Given the description of an element on the screen output the (x, y) to click on. 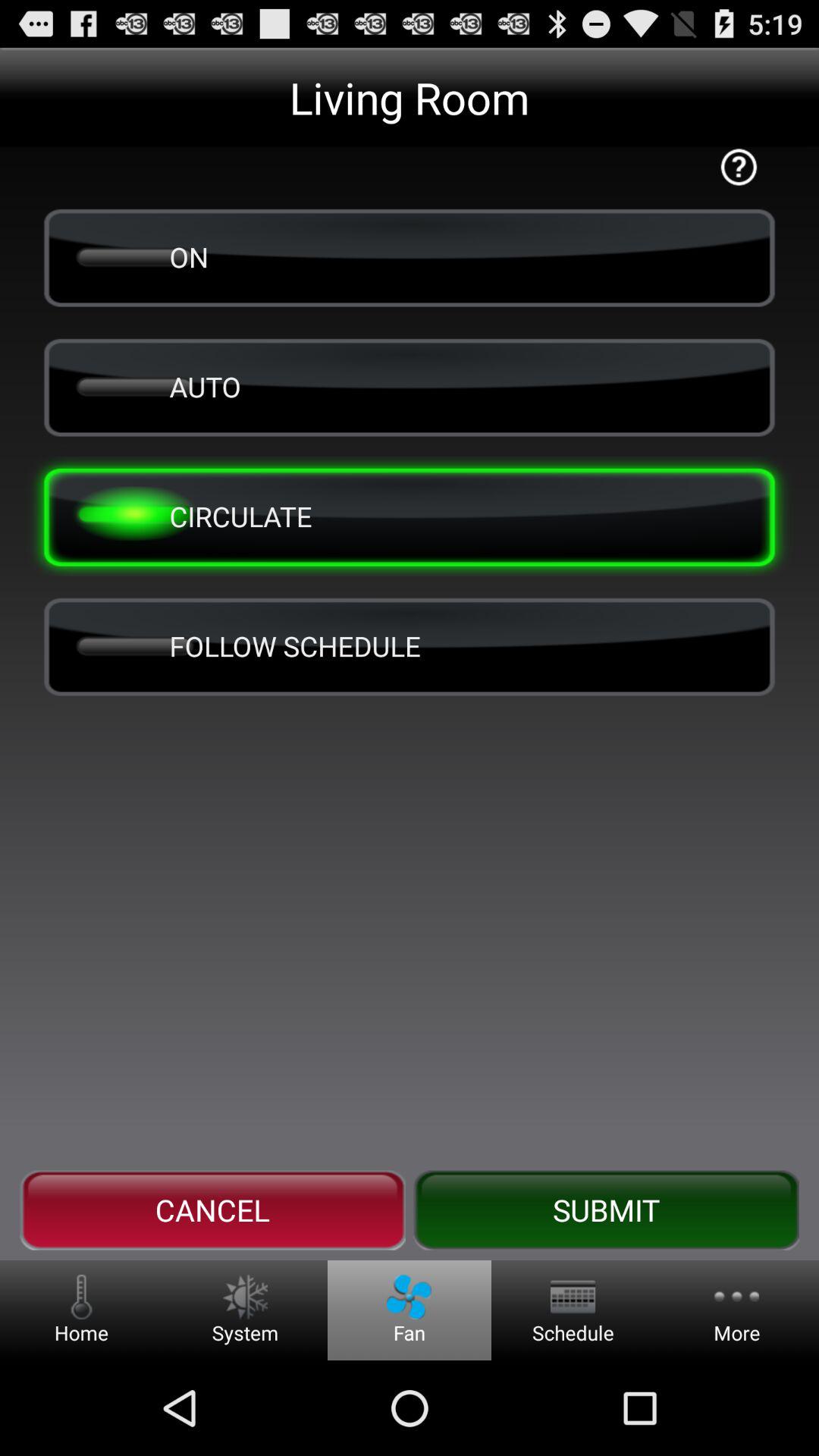
click the icon at the top right corner (739, 167)
